Given the description of an element on the screen output the (x, y) to click on. 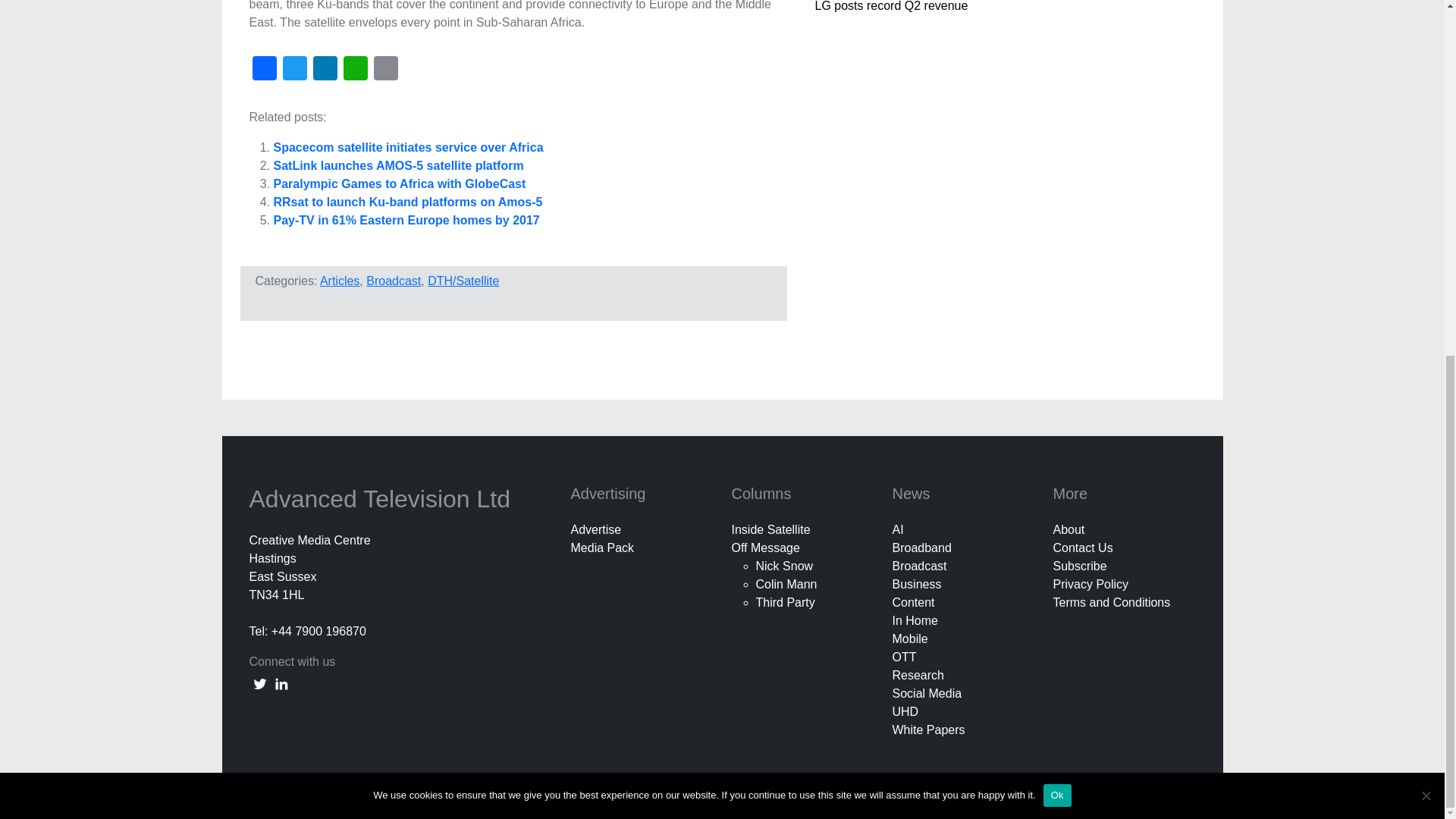
Facebook (263, 70)
Inside Satellite (769, 529)
RRsat to launch Ku-band platforms on Amos-5 (407, 201)
Paralympic Games to Africa with GlobeCast (399, 183)
Spacecom satellite initiates service over Africa (408, 146)
LG posts record Q2 revenue (890, 6)
Email (384, 70)
LinkedIn (323, 70)
Paralympic Games to Africa with GlobeCast (399, 183)
Advanced Television Ltd  (382, 498)
Twitter (293, 70)
Twitter (293, 70)
SatLink launches AMOS-5 satellite platform (397, 164)
WhatsApp (354, 70)
Media Pack (601, 547)
